Given the description of an element on the screen output the (x, y) to click on. 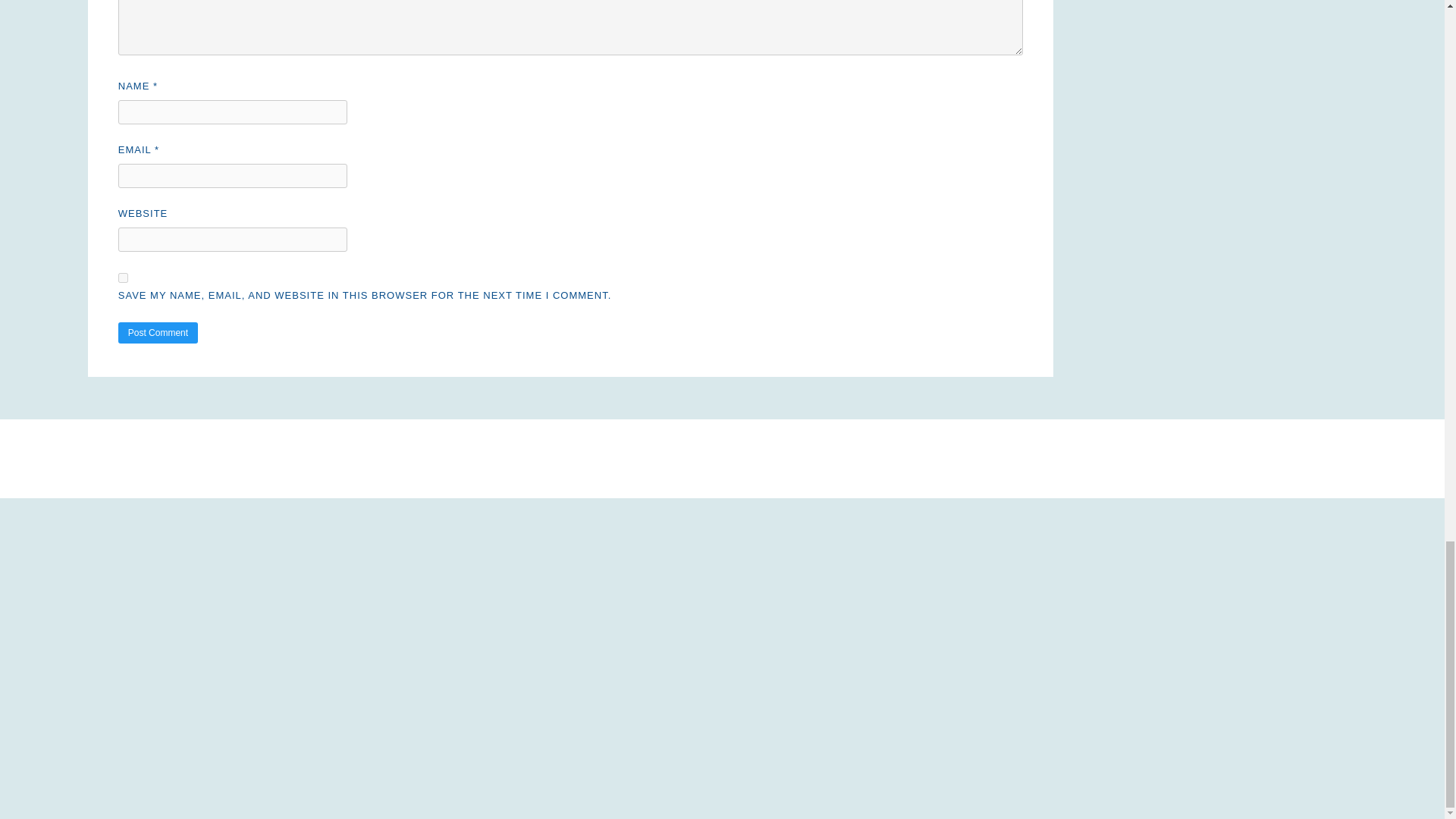
yes (122, 277)
Post Comment (157, 332)
Post Comment (157, 332)
